Given the description of an element on the screen output the (x, y) to click on. 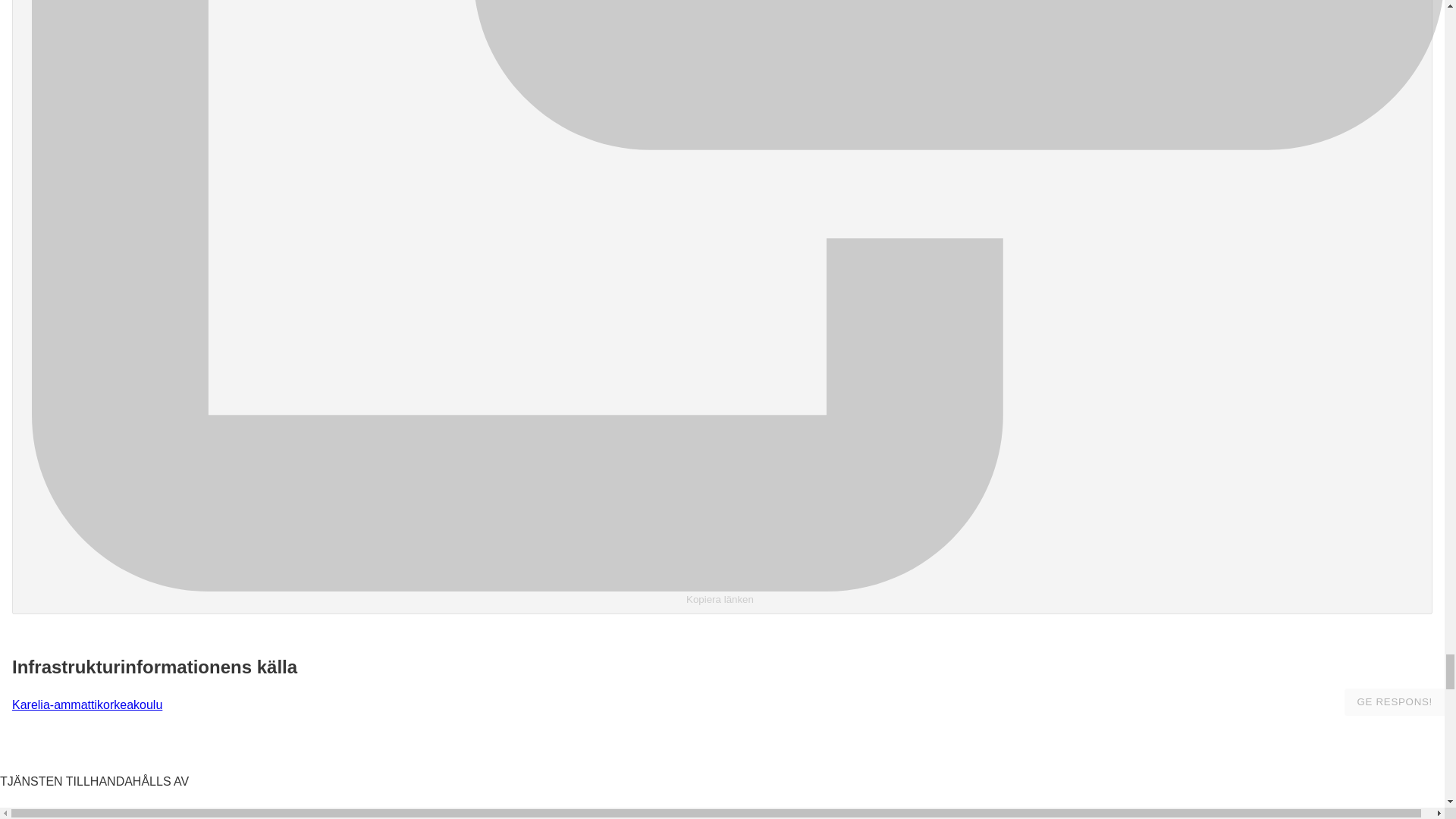
Karelia-ammattikorkeakoulu (86, 704)
